Given the description of an element on the screen output the (x, y) to click on. 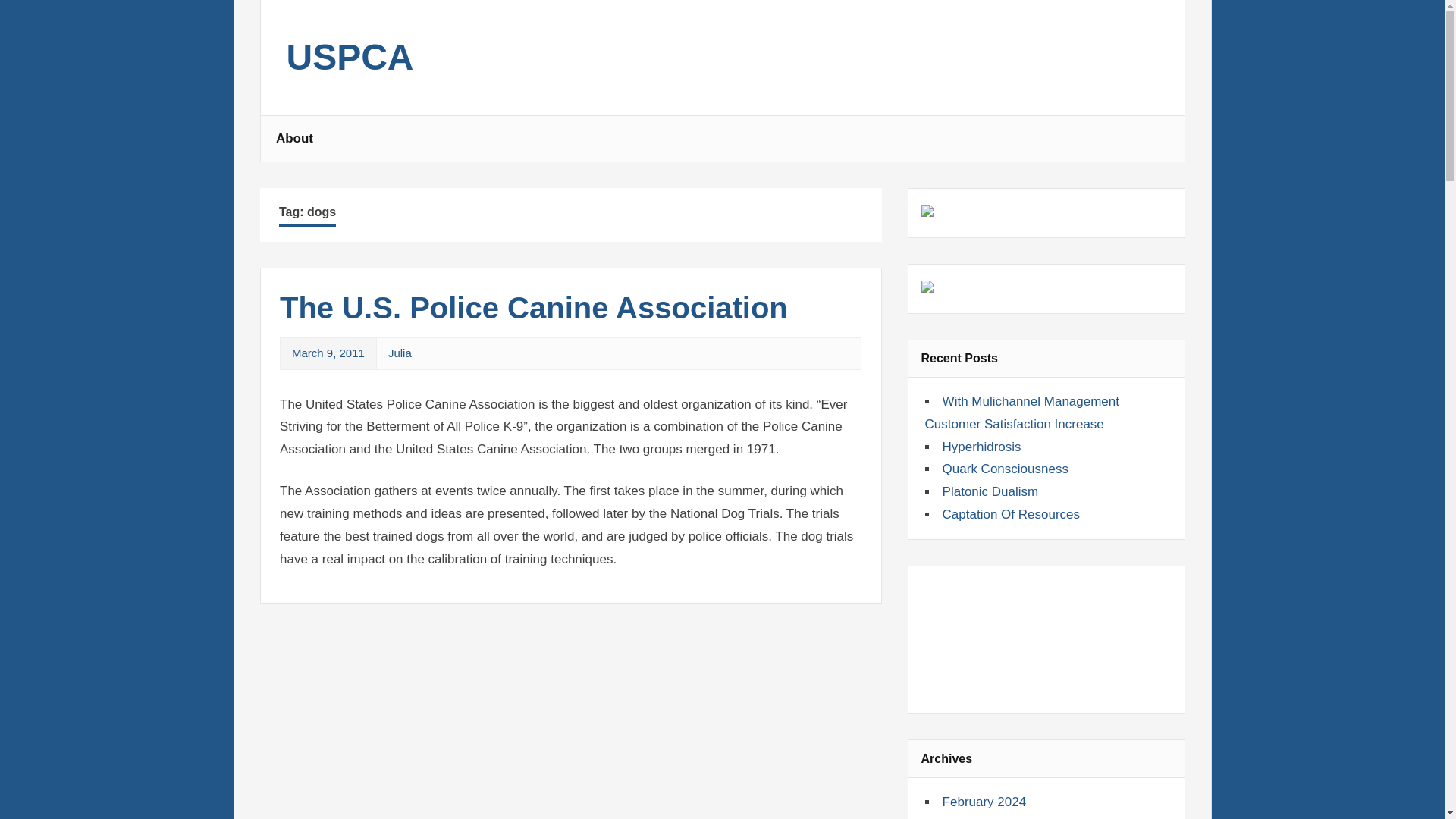
USPCA (349, 65)
With Mulichannel Management Customer Satisfaction Increase (1021, 412)
View all posts by Julia (400, 352)
Julia (400, 352)
Captation Of Resources (1011, 513)
Quark Consciousness (1005, 468)
About (294, 138)
Hyperhidrosis (982, 446)
The U.S. Police Canine Association (533, 307)
USPCA (349, 65)
3:45 am (328, 352)
November 2023 (987, 818)
March 9, 2011 (328, 352)
Platonic Dualism (990, 491)
February 2024 (984, 801)
